Given the description of an element on the screen output the (x, y) to click on. 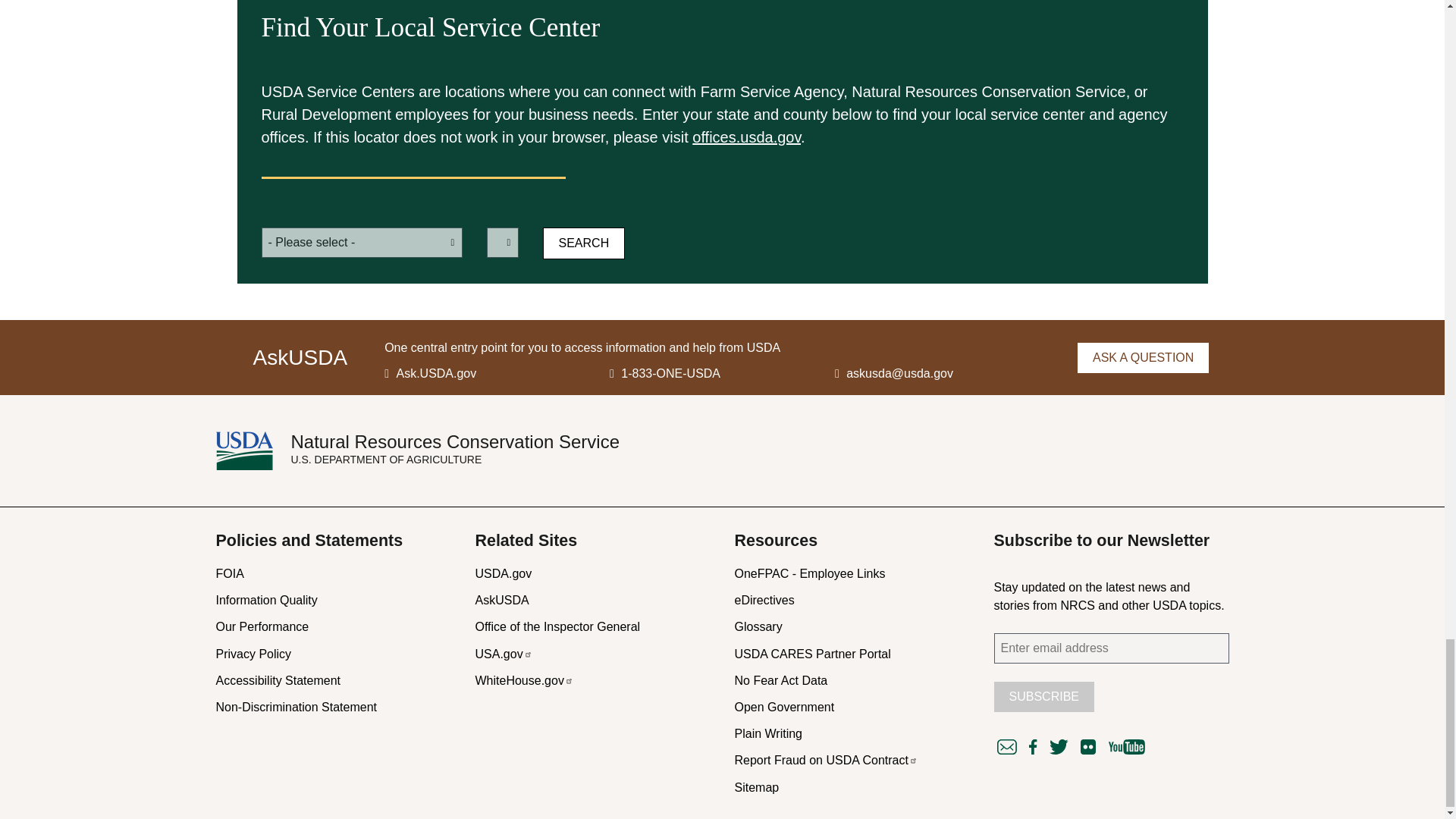
Search (584, 243)
Natural Resources Conservation Service (455, 442)
Subscribe (1042, 696)
All-employee and NRCS-employee resources (809, 573)
Natural Resources Conservation Service (252, 450)
